Given the description of an element on the screen output the (x, y) to click on. 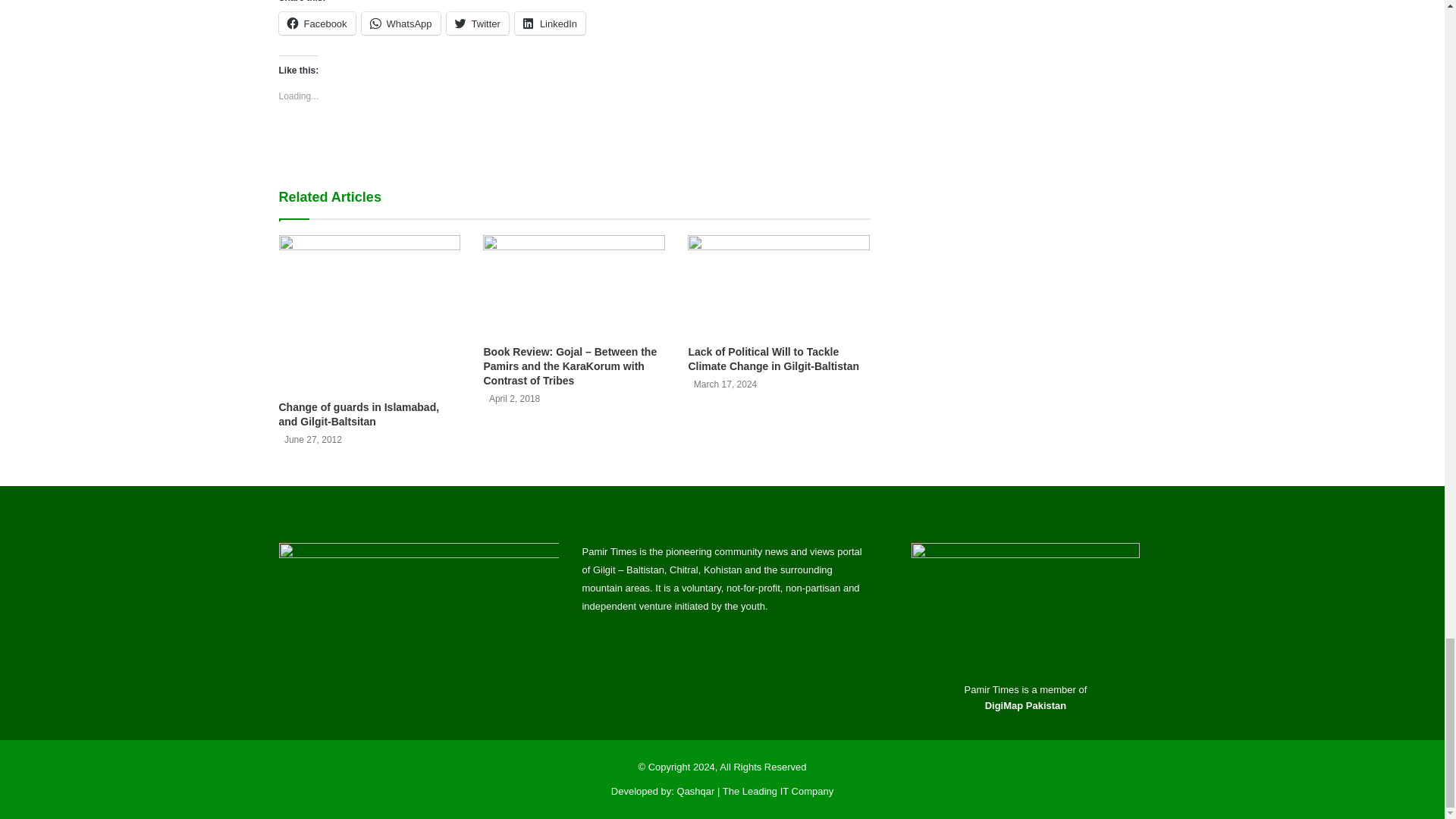
WhatsApp (401, 23)
Click to share on WhatsApp (401, 23)
Click to share on Facebook (317, 23)
Facebook (317, 23)
LinkedIn (550, 23)
Click to share on LinkedIn (550, 23)
Click to share on Twitter (477, 23)
Twitter (477, 23)
